Given the description of an element on the screen output the (x, y) to click on. 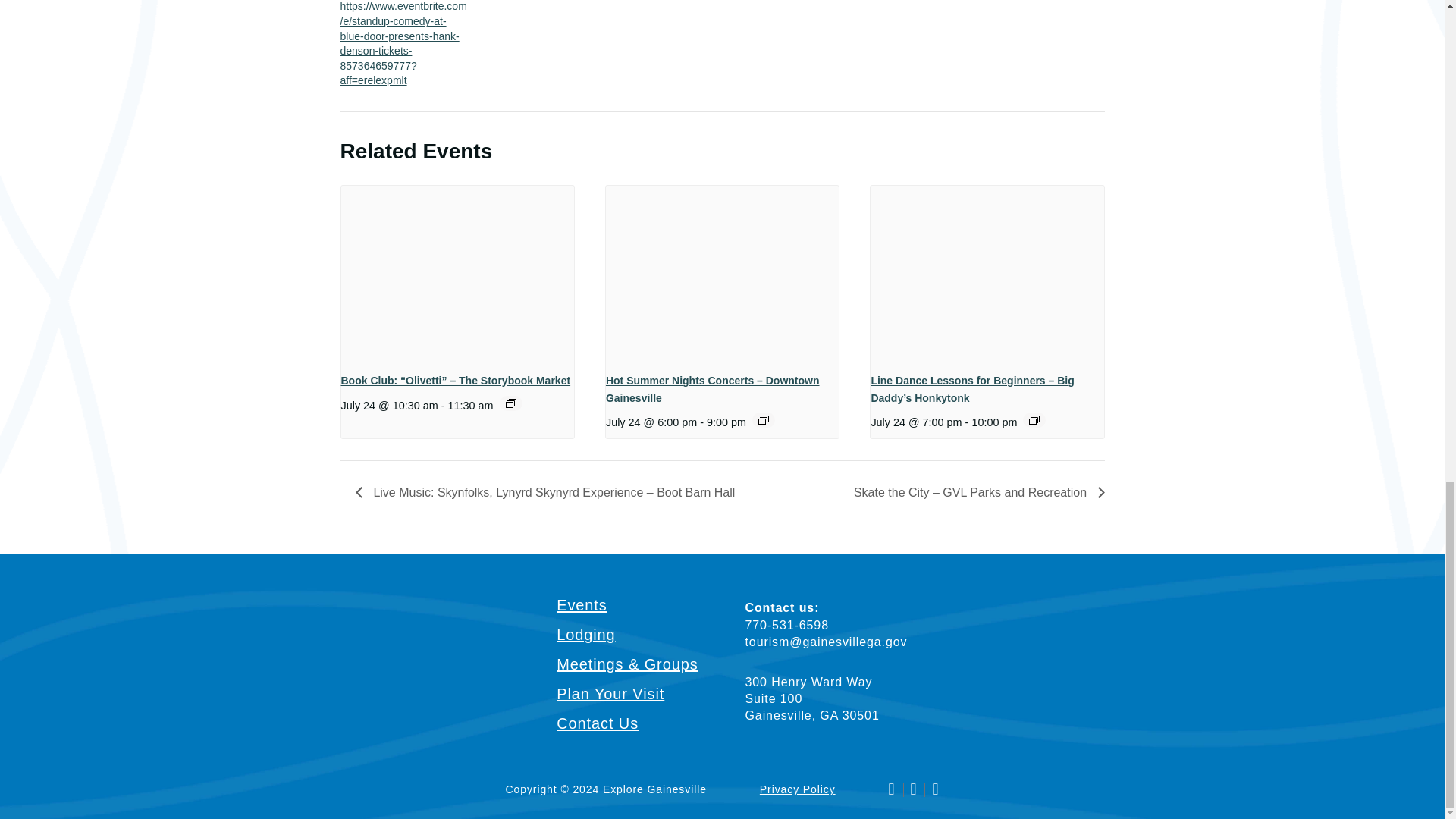
Event Series (763, 420)
Event Series (510, 402)
Event Series (1034, 420)
